Given the description of an element on the screen output the (x, y) to click on. 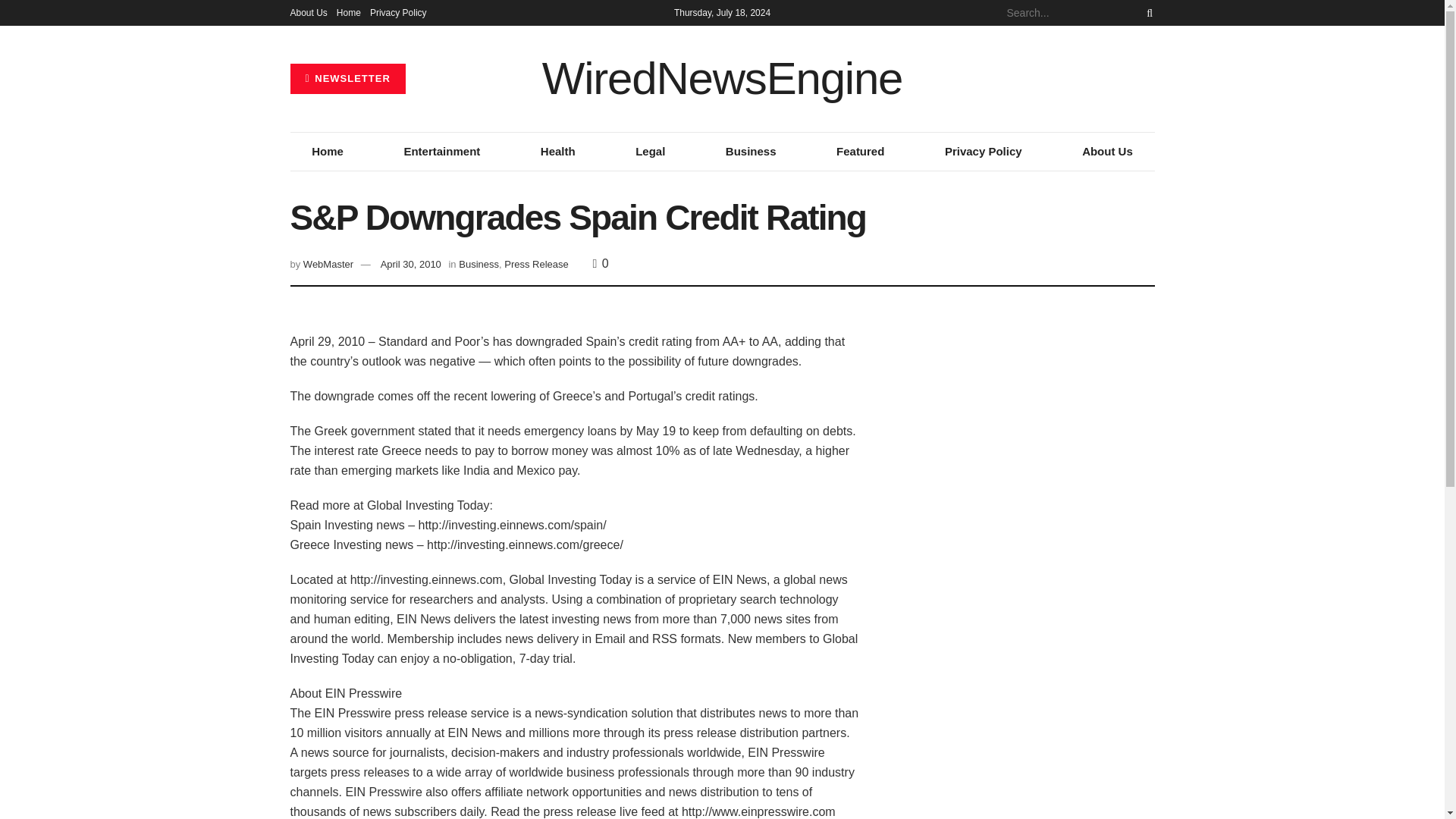
WebMaster (327, 264)
Health (557, 151)
0 (600, 263)
Business (478, 264)
Home (348, 12)
Press Release (536, 264)
WiredNewsEngine (721, 78)
Featured (859, 151)
April 30, 2010 (410, 264)
Privacy Policy (397, 12)
NEWSLETTER (346, 78)
Home (327, 151)
Business (750, 151)
About Us (307, 12)
Entertainment (441, 151)
